Given the description of an element on the screen output the (x, y) to click on. 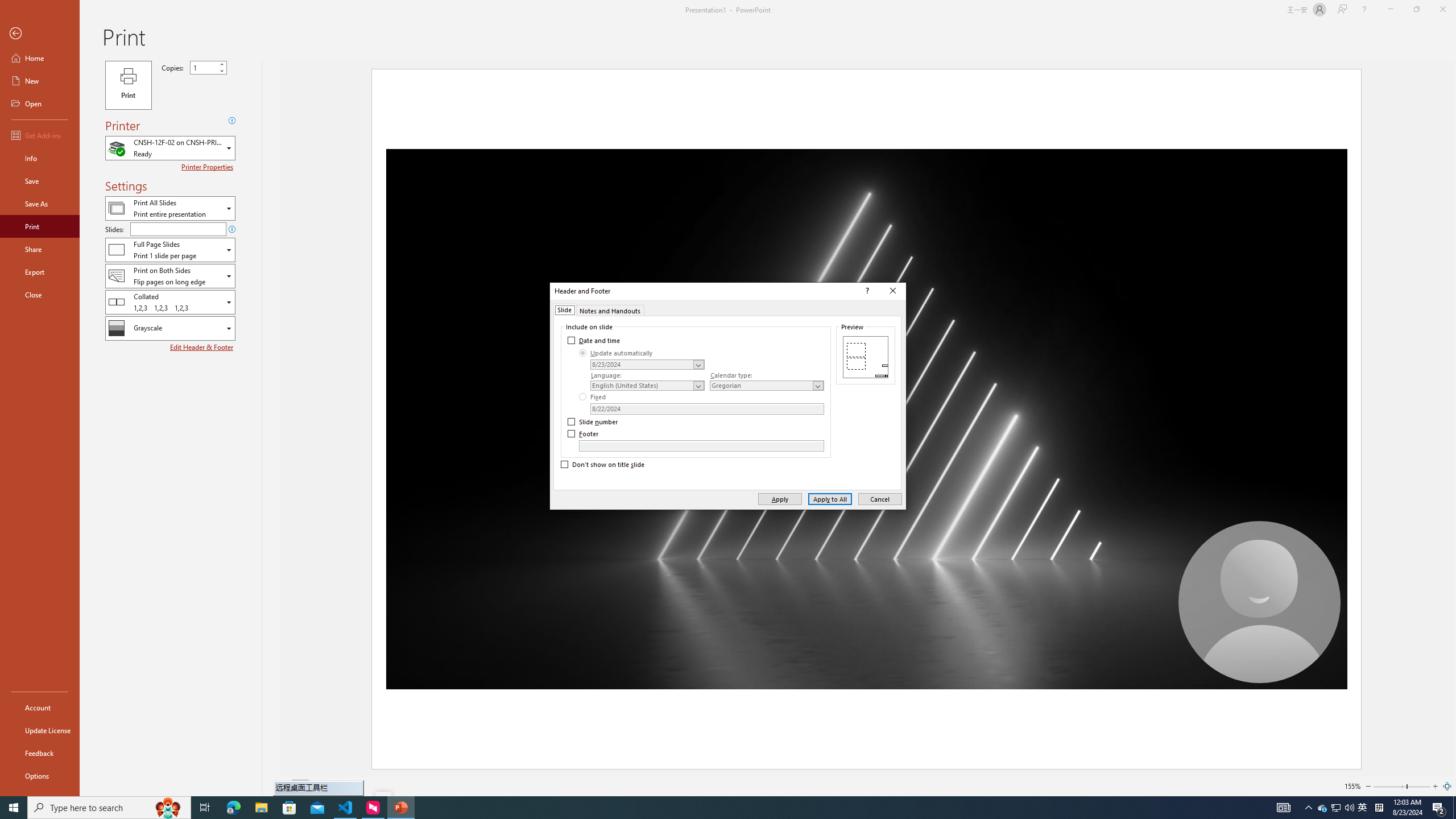
Slides and Handouts (169, 249)
Info (40, 157)
Fixed Date (706, 408)
Context help (866, 290)
Feedback (40, 753)
Microsoft Edge (233, 807)
Collation (169, 301)
Printer Properties (208, 166)
